Given the description of an element on the screen output the (x, y) to click on. 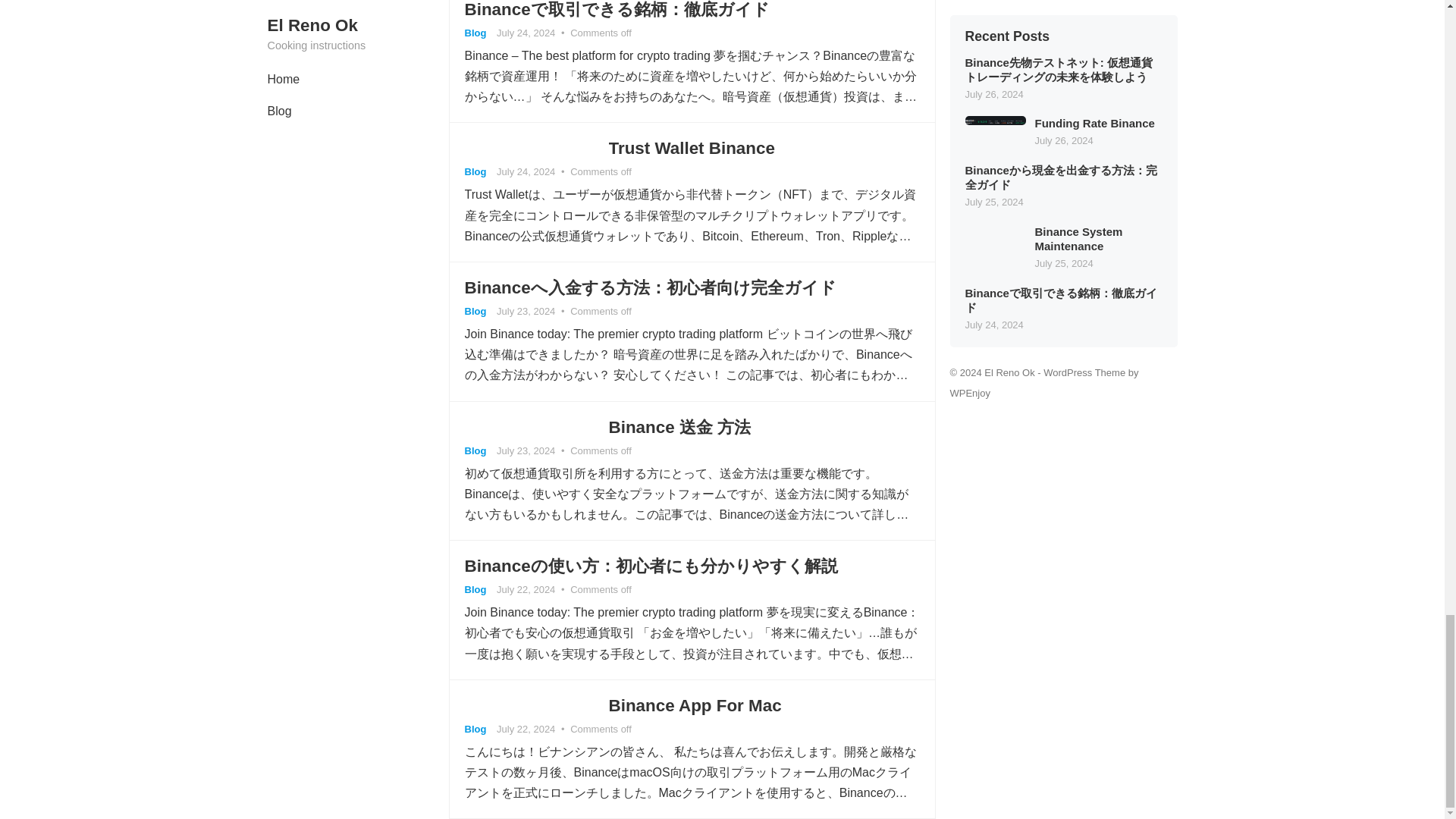
Blog (475, 32)
Blog (475, 310)
Trust Wallet Binance (691, 148)
Blog (475, 171)
